Given the description of an element on the screen output the (x, y) to click on. 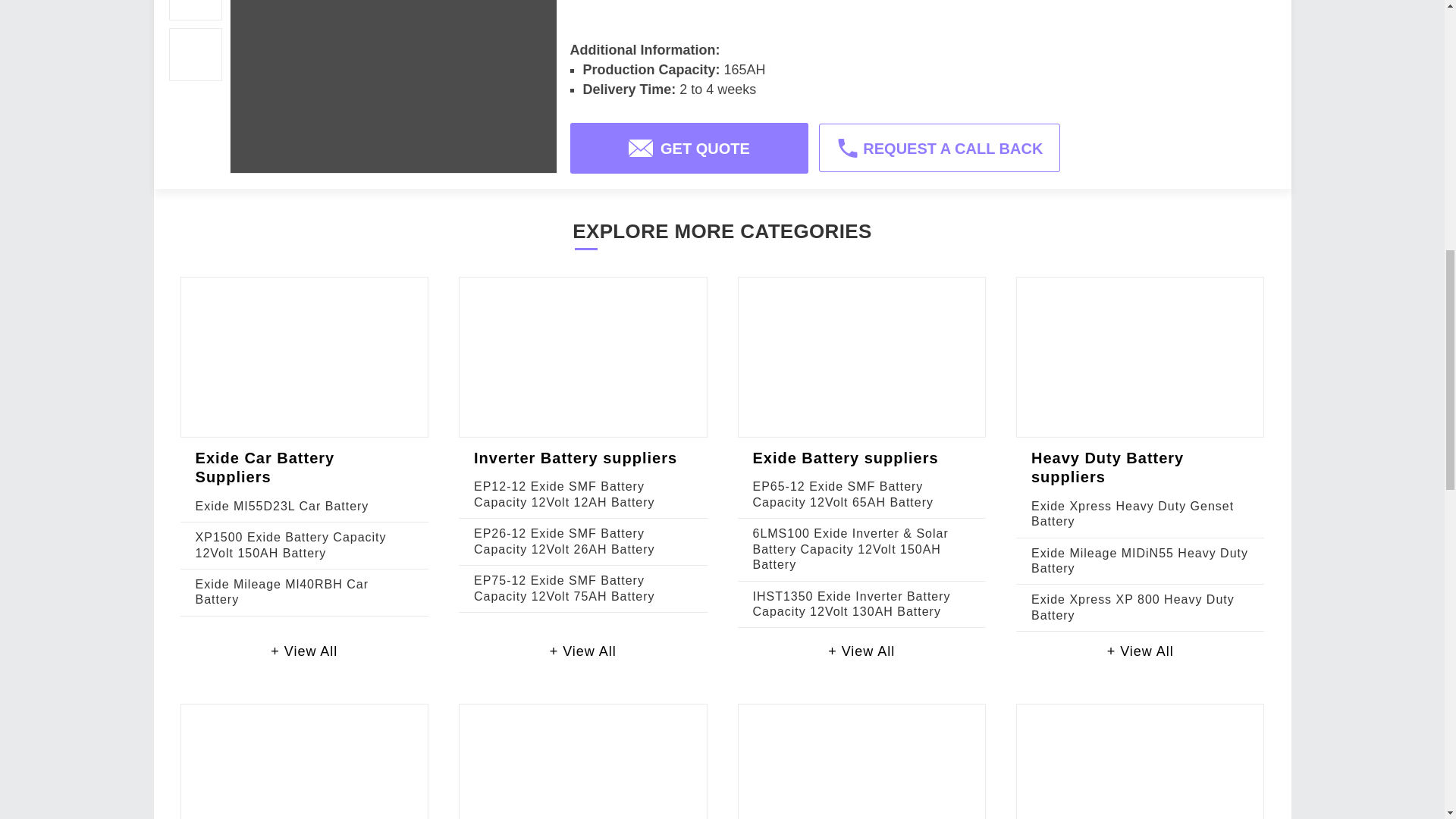
EP26-12 Exide SMF Battery Capacity 12Volt 26AH Battery (564, 541)
EP75-12 Exide SMF Battery Capacity 12Volt 75AH Battery (564, 587)
EP12-12 Exide SMF Battery Capacity 12Volt 12AH Battery (564, 493)
Exide MI55D23L Car Battery (282, 505)
Exide Mileage Ml40RBH Car Battery (281, 592)
Inverter Battery suppliers (575, 457)
Exide Car Battery Suppliers (264, 467)
XP1500 Exide Battery Capacity 12Volt 150AH Battery (291, 544)
EP65-12 Exide SMF Battery Capacity 12Volt 65AH Battery (842, 493)
Exide Battery suppliers (844, 457)
